Given the description of an element on the screen output the (x, y) to click on. 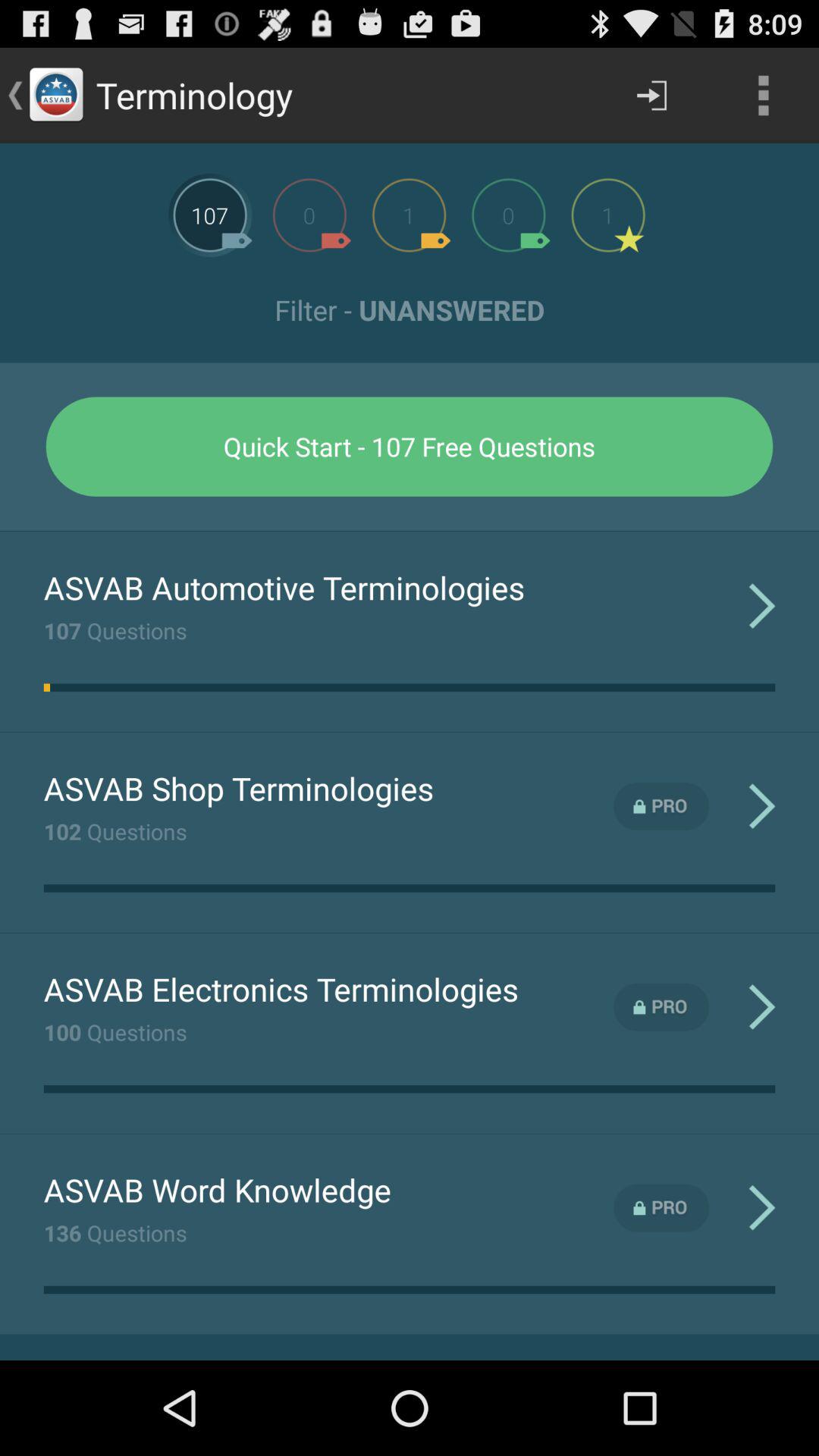
turn off 136 questions app (115, 1232)
